Given the description of an element on the screen output the (x, y) to click on. 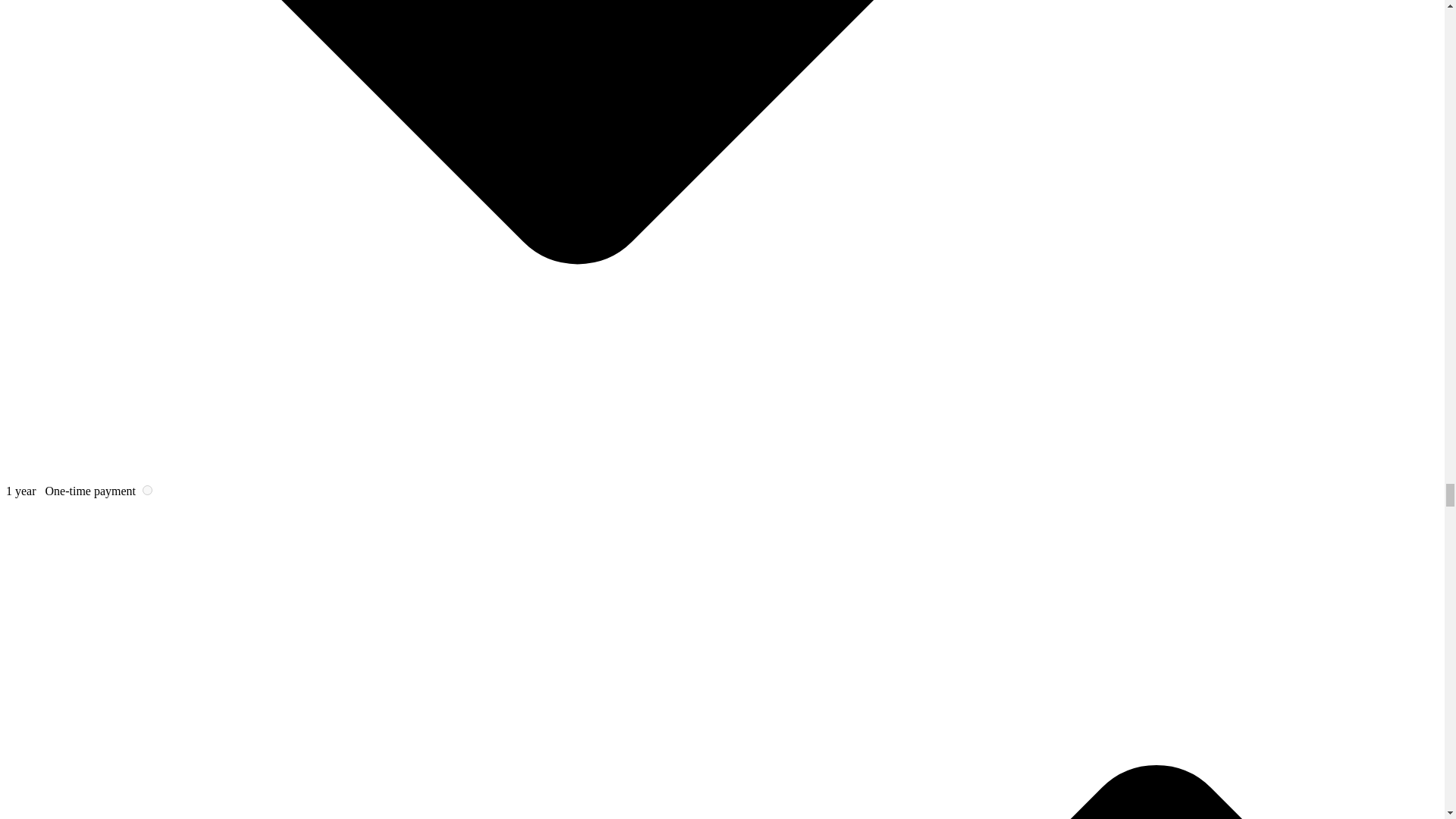
99 (147, 490)
